Given the description of an element on the screen output the (x, y) to click on. 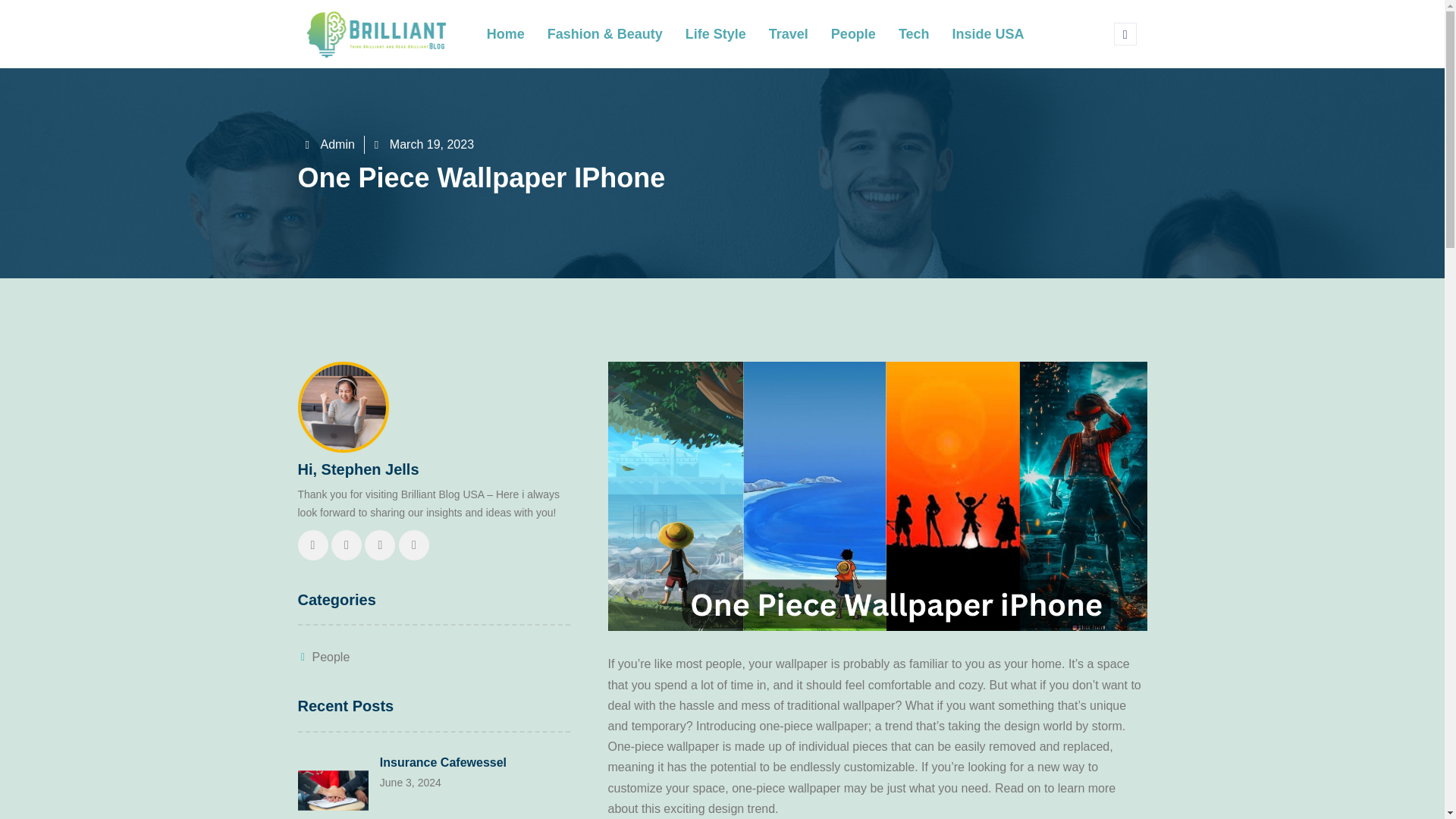
People (323, 657)
Inside USA (987, 33)
Admin (328, 144)
March 19, 2023 (424, 144)
Home (505, 33)
People (852, 33)
Tech (913, 33)
Insurance Cafewessel (443, 762)
Travel (788, 33)
Life Style (715, 33)
